Given the description of an element on the screen output the (x, y) to click on. 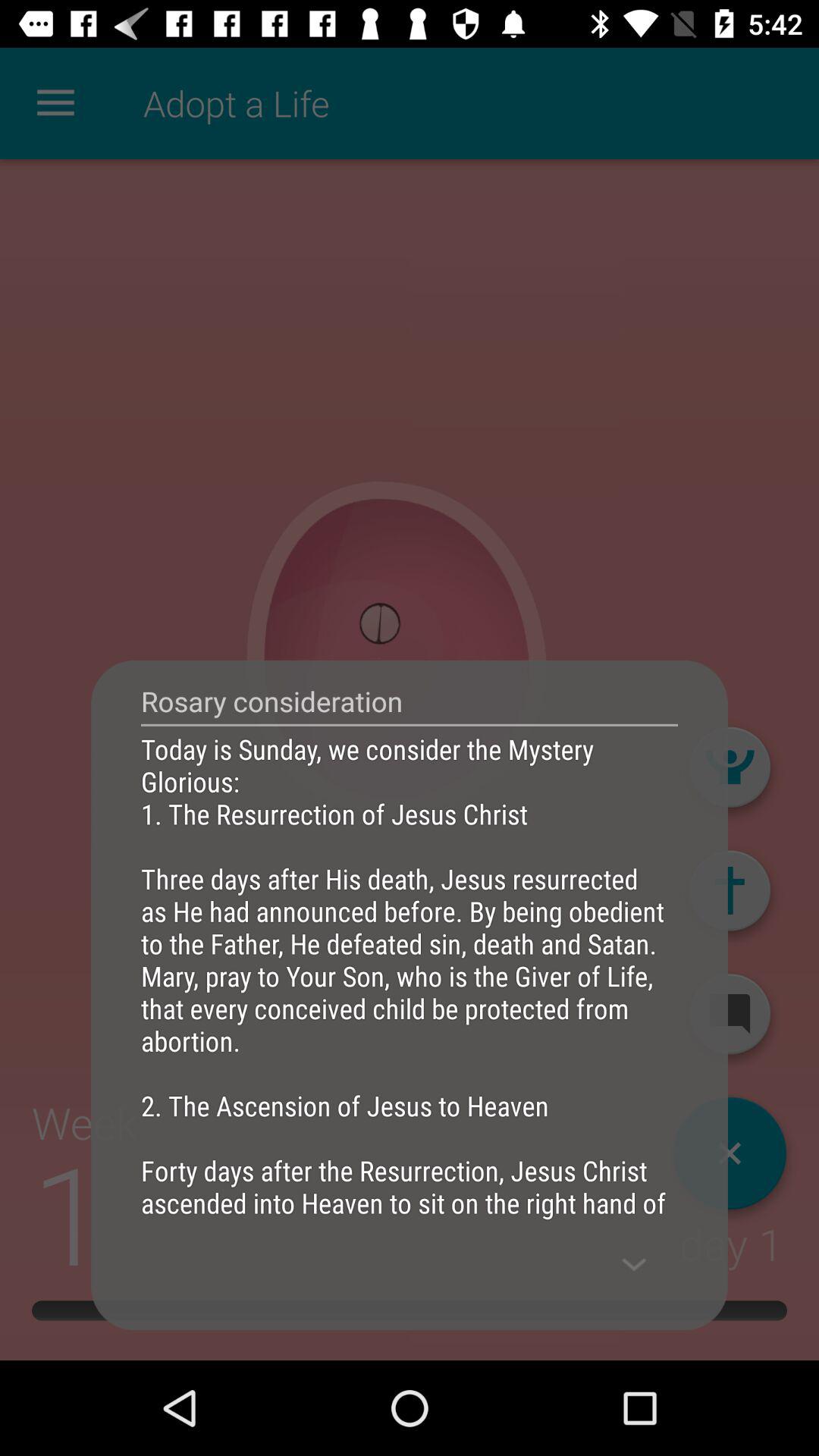
launch the item below today is sunday item (633, 1264)
